Given the description of an element on the screen output the (x, y) to click on. 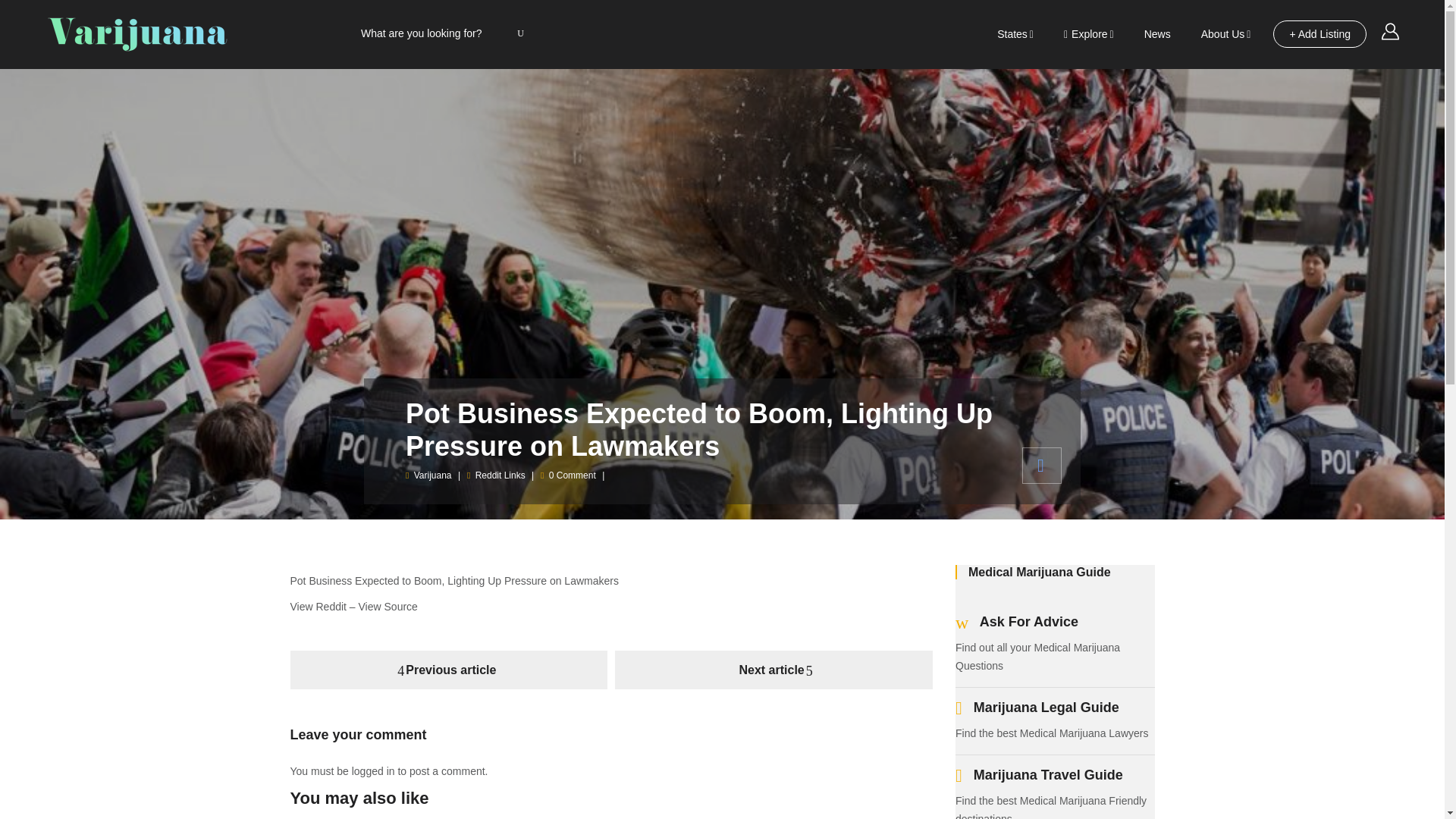
View Source (387, 606)
Explore (1088, 34)
View Reddit (317, 606)
Varijuana (432, 475)
Previous article (448, 669)
Reddit Links (500, 475)
News (1157, 33)
About Us (1226, 34)
States (1014, 34)
